Given the description of an element on the screen output the (x, y) to click on. 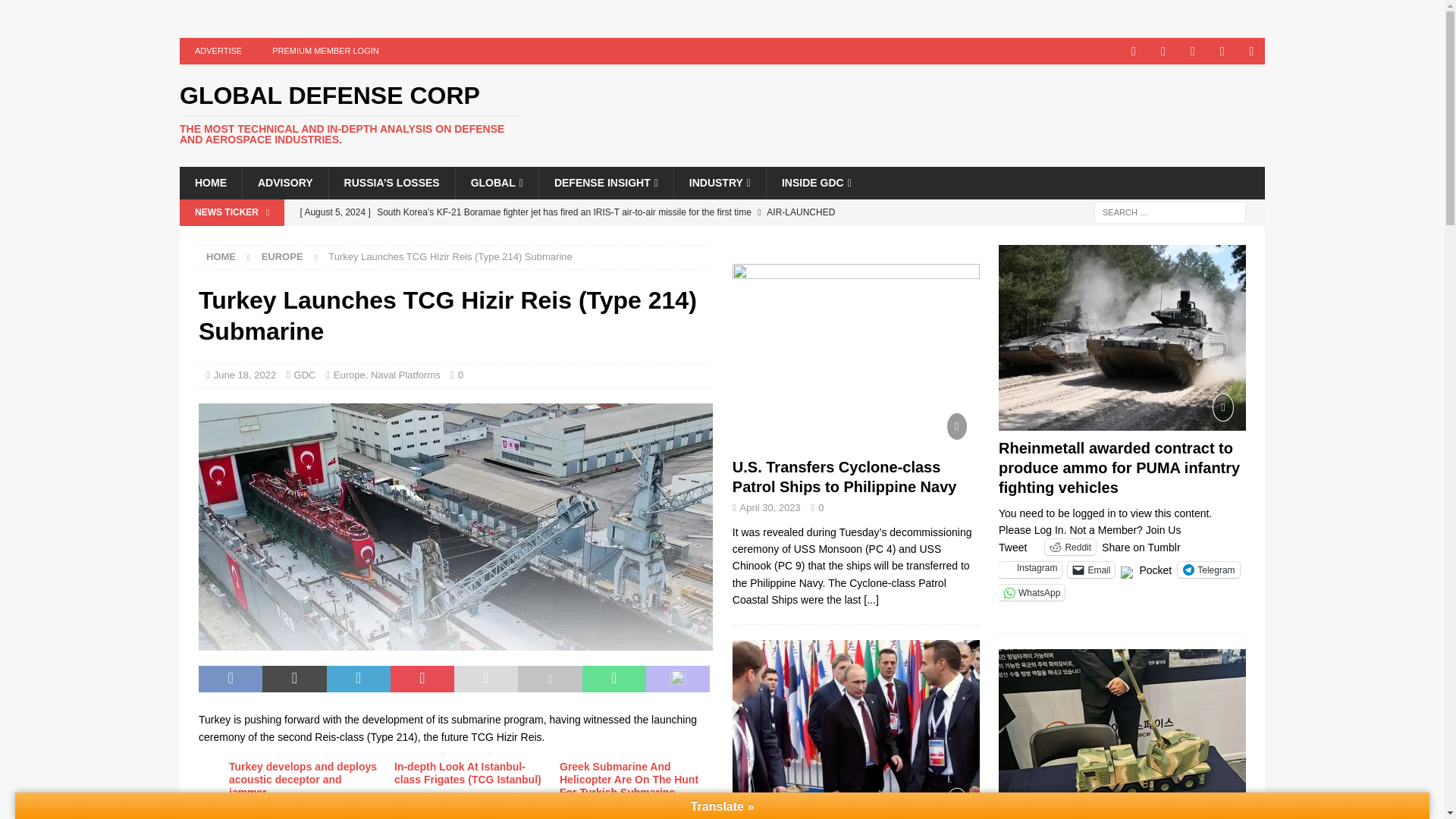
INSIDE GDC (815, 183)
Send this article to a friend (486, 678)
INDUSTRY (718, 183)
Share on LinkedIn (358, 678)
ADVISORY (285, 183)
Tweet This Post (294, 678)
Pin This Post (422, 678)
Global Defense Corp (350, 114)
HOME (210, 183)
Home (220, 256)
DEFENSE INSIGHT (605, 183)
Share on Facebook (230, 678)
PREMIUM MEMBER LOGIN (325, 50)
TCG Hizir Reis (455, 526)
